Given the description of an element on the screen output the (x, y) to click on. 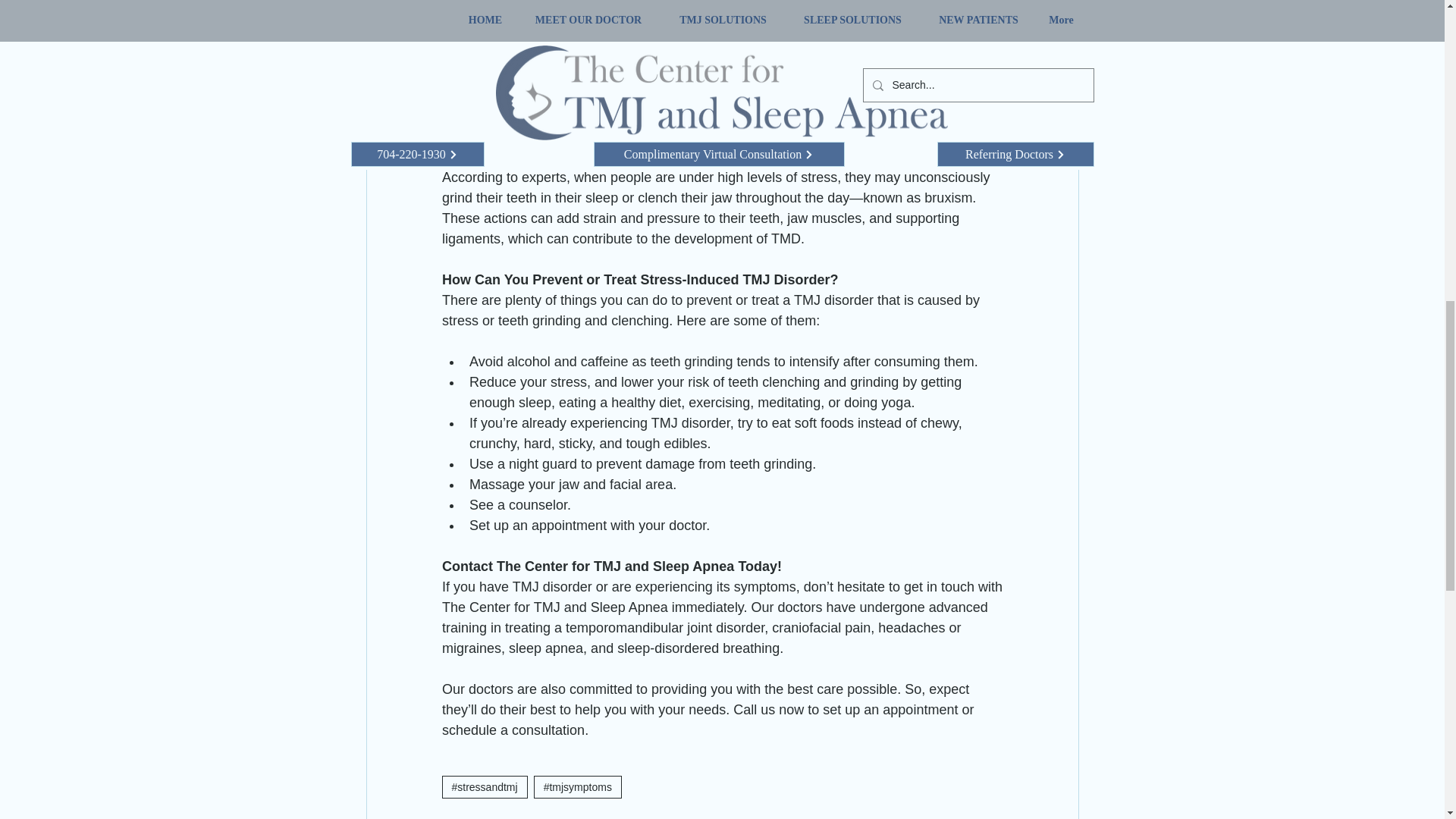
TMD symptoms (818, 74)
